Given the description of an element on the screen output the (x, y) to click on. 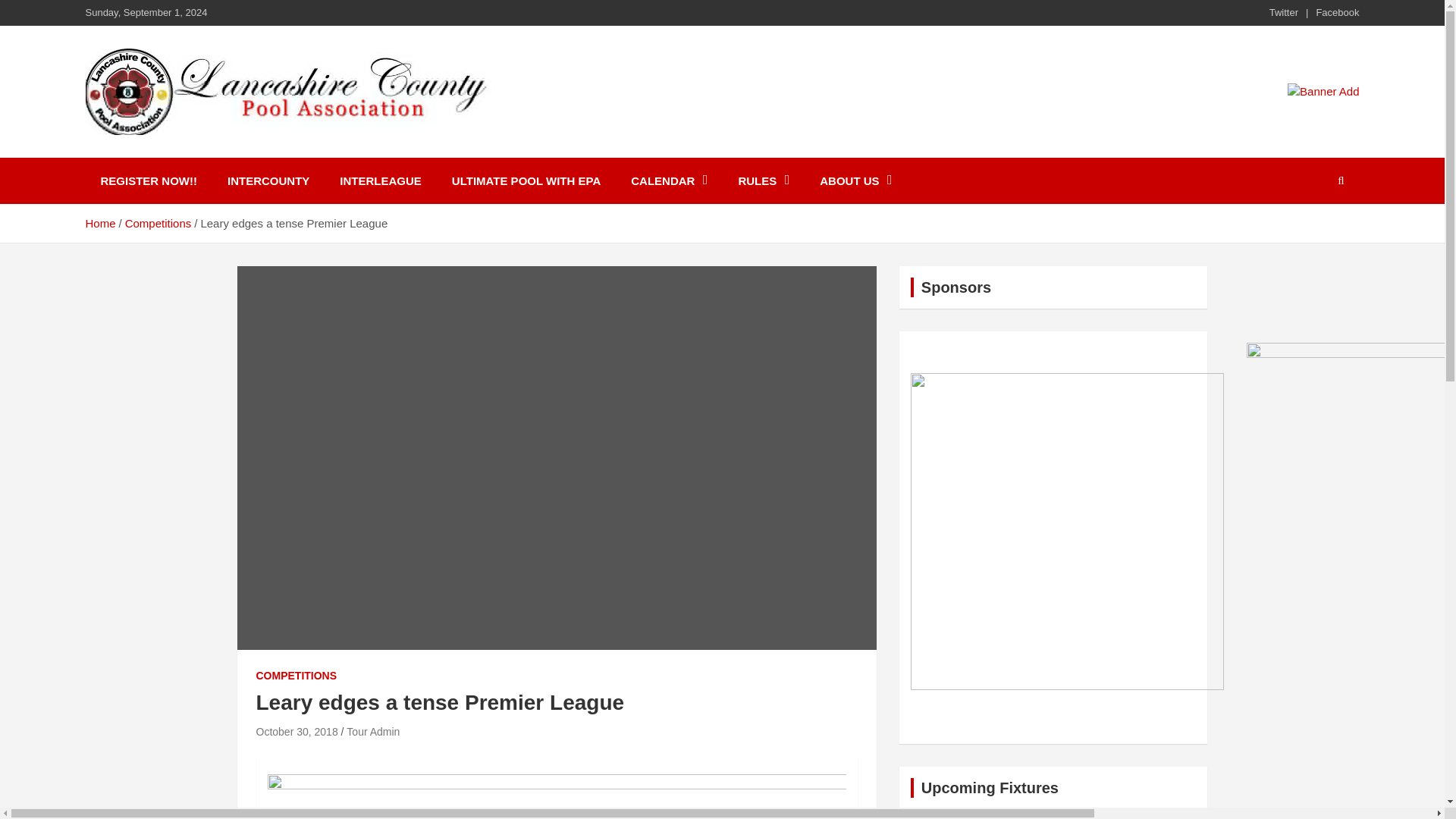
INTERLEAGUE (380, 180)
REGISTER NOW!! (148, 180)
Twitter (1283, 12)
INTERCOUNTY (268, 180)
Leary edges a tense Premier League (296, 731)
Home (99, 223)
RULES (763, 180)
October 30, 2018 (296, 731)
Tour Admin (372, 731)
ABOUT US (856, 180)
